Given the description of an element on the screen output the (x, y) to click on. 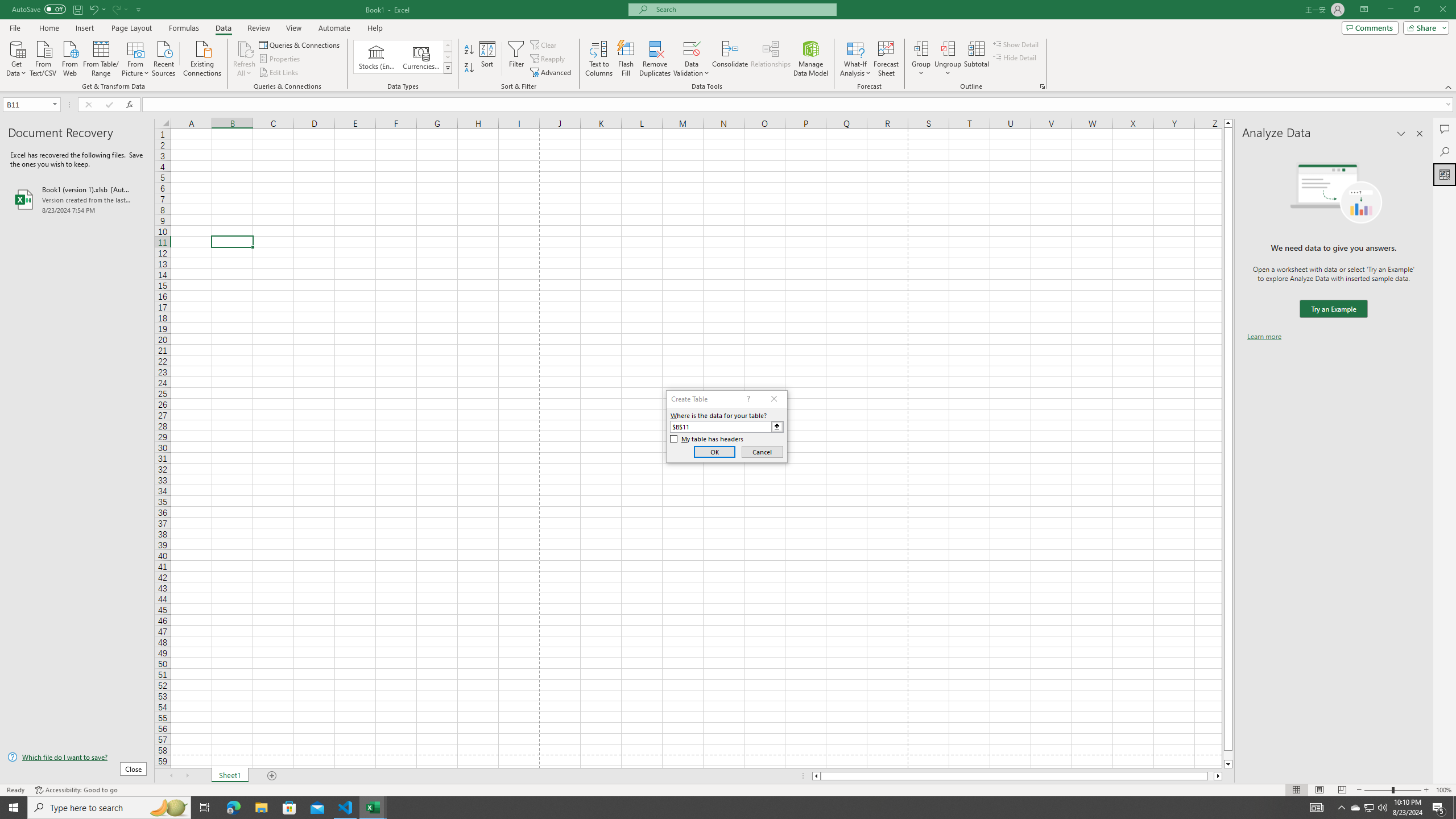
Open (54, 104)
Page Break Preview (1342, 790)
Sort Z to A (469, 67)
Ribbon Display Options (1364, 9)
Add Sheet (272, 775)
Get Data (16, 57)
Line down (1228, 764)
Filter (515, 58)
Class: NetUIImage (447, 68)
Zoom In (1426, 790)
Queries & Connections (300, 44)
Sort A to Z (469, 49)
Hide Detail (1014, 56)
